Given the description of an element on the screen output the (x, y) to click on. 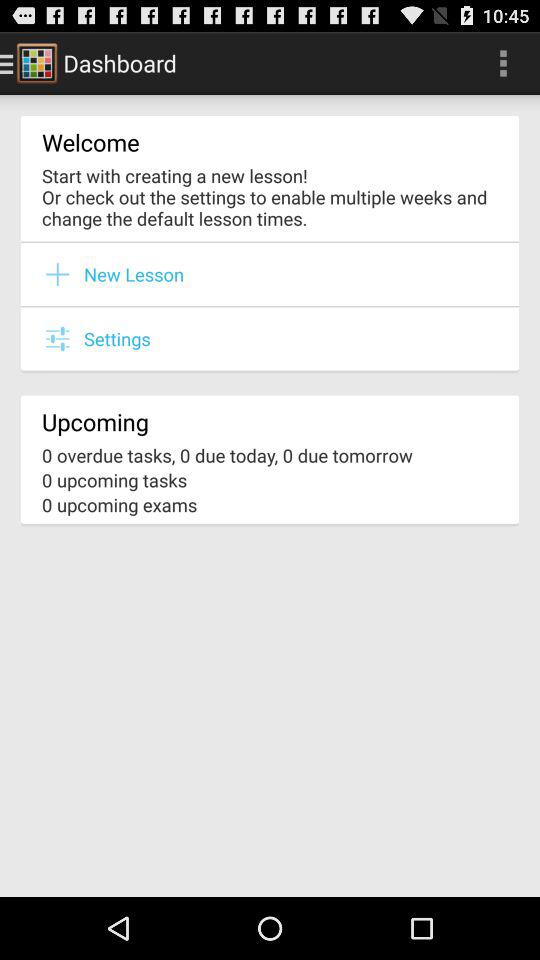
click the item to the right of dashboard item (503, 62)
